Given the description of an element on the screen output the (x, y) to click on. 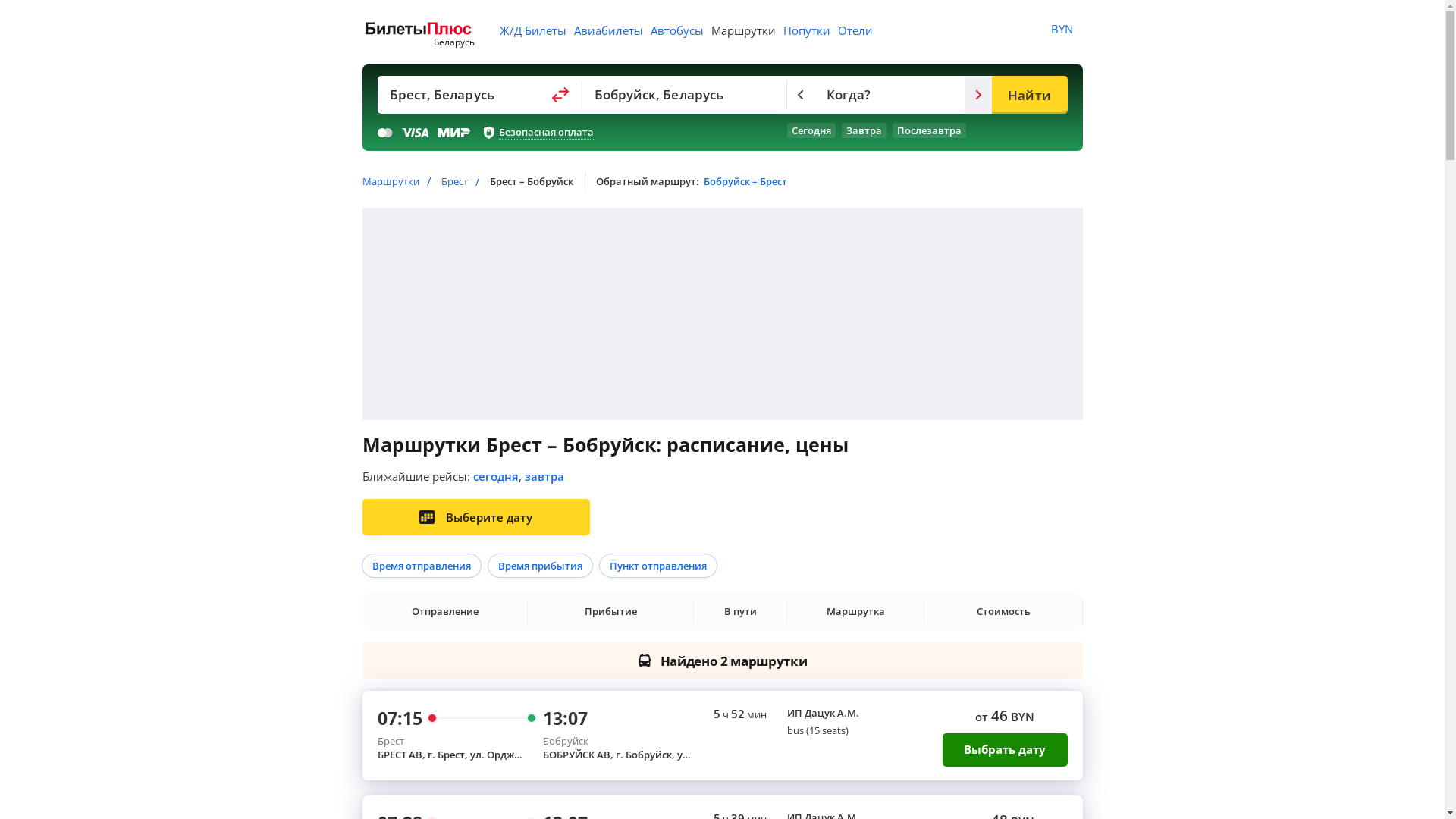
Advertisement Element type: hover (722, 313)
